Given the description of an element on the screen output the (x, y) to click on. 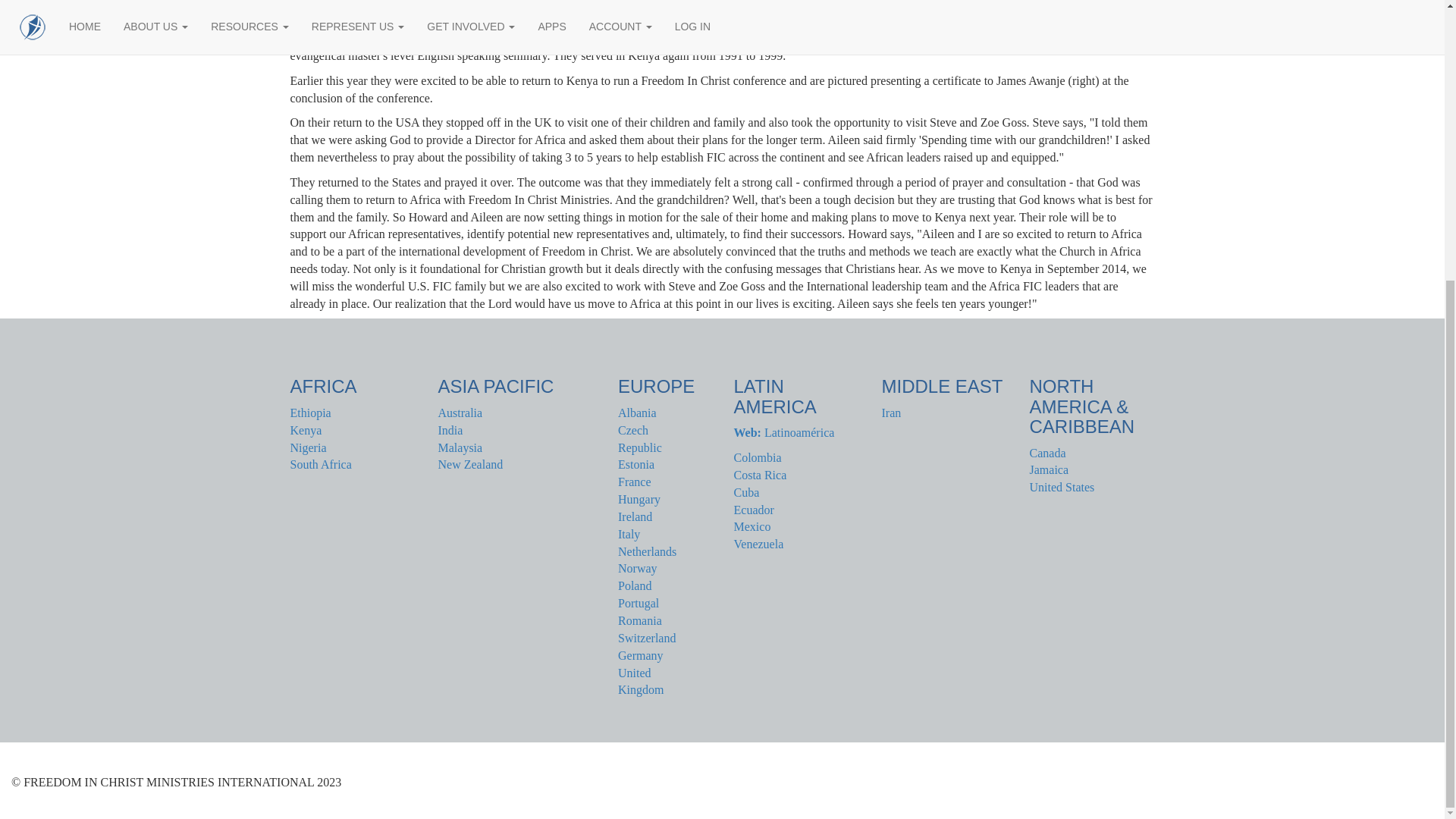
South Africa (319, 463)
Kenya (305, 430)
Nigeria (307, 447)
Ethiopia (309, 412)
